Given the description of an element on the screen output the (x, y) to click on. 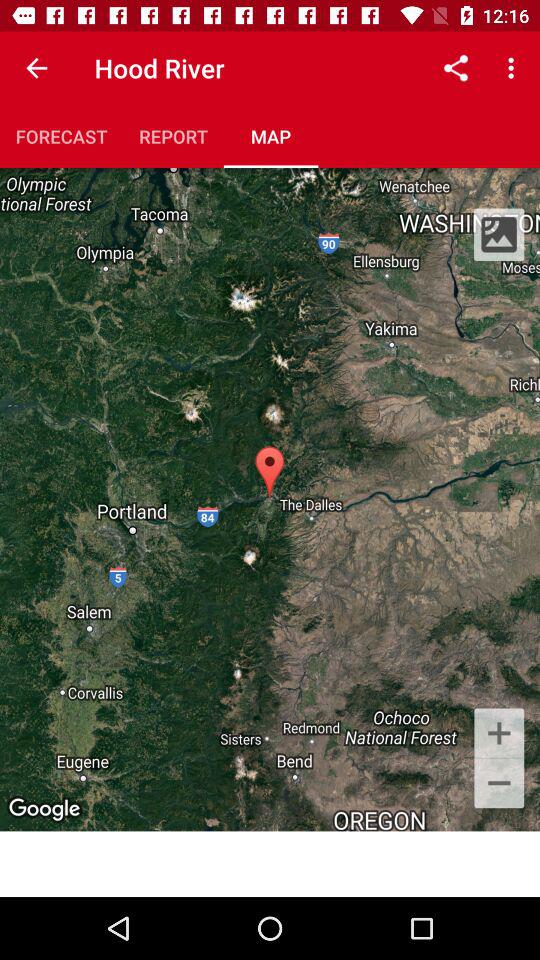
select icon next to the hood river icon (36, 68)
